Given the description of an element on the screen output the (x, y) to click on. 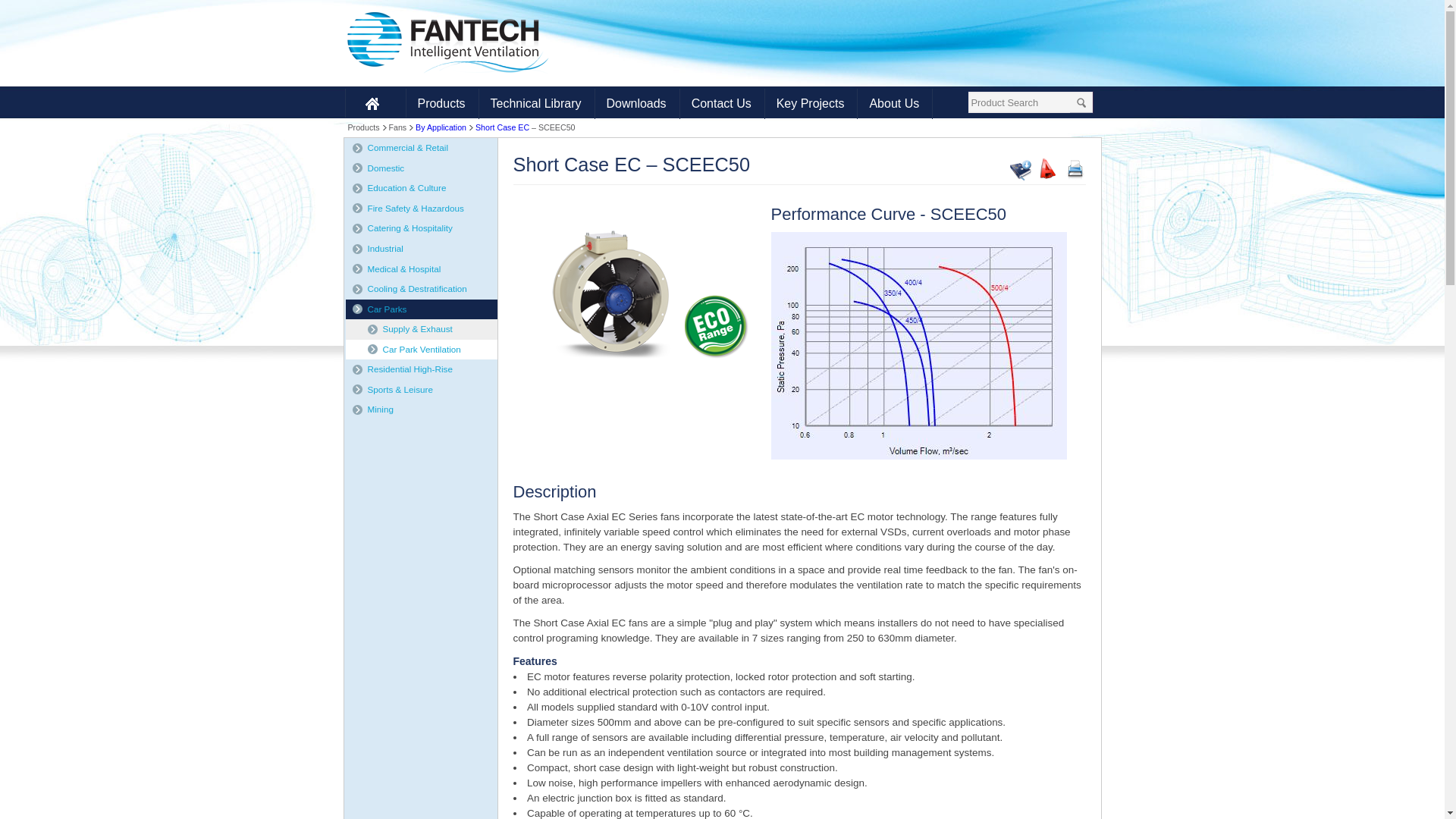
  Element type: text (375, 102)
Search Element type: text (1080, 102)
EcoRange Energy Saving Fans - Fantech Element type: hover (713, 326)
Print Friendly Version Element type: hover (1074, 170)
Short Case EC Element type: hover (607, 294)
Fantech Home Element type: hover (375, 102)
Supply & Exhaust Element type: text (415, 328)
Fire Safety & Hazardous Element type: text (413, 208)
Industrial Element type: text (383, 248)
Products Element type: text (440, 103)
Medical & Hospital Element type: text (402, 268)
Commercial & Retail Element type: text (406, 147)
Car Parks Element type: text (385, 308)
Contact Us Element type: text (721, 103)
Education & Culture Element type: text (404, 187)
Cooling & Destratification Element type: text (415, 288)
Download Catalogue Element type: hover (1020, 177)
Car Park Ventilation Element type: text (419, 349)
By Application Element type: text (440, 126)
Downloads Element type: text (636, 103)
Short Case EC Element type: text (502, 126)
Autocad Element type: hover (1047, 168)
Technical Library Element type: text (535, 103)
Residential High-Rise Element type: text (407, 368)
About Us Element type: text (893, 103)
Key Projects Element type: text (810, 103)
Domestic Element type: text (384, 167)
Mining Element type: text (378, 409)
Catering & Hospitality Element type: text (407, 227)
Sports & Leisure Element type: text (398, 389)
